Given the description of an element on the screen output the (x, y) to click on. 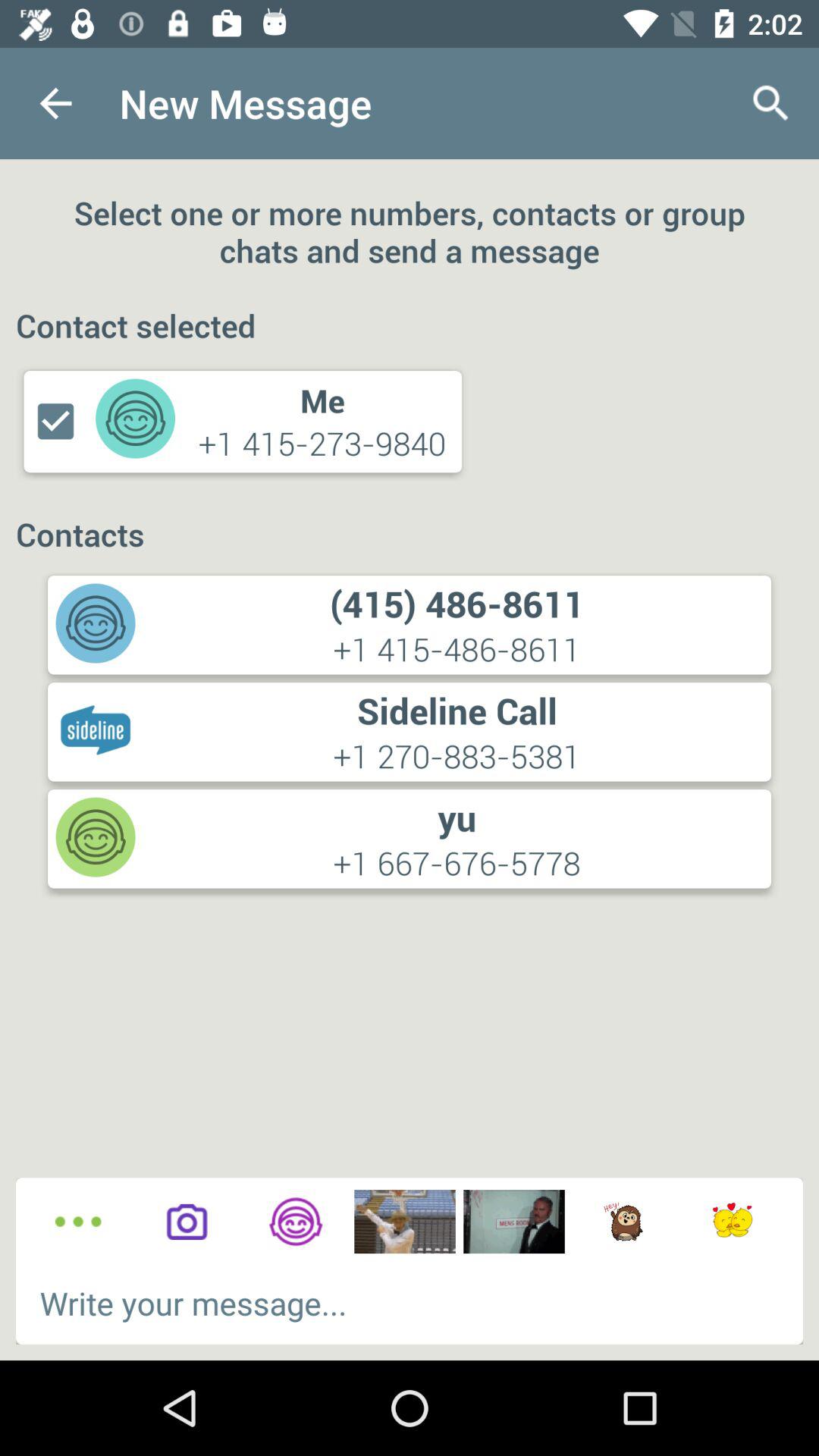
launch the app next to new message app (771, 103)
